Given the description of an element on the screen output the (x, y) to click on. 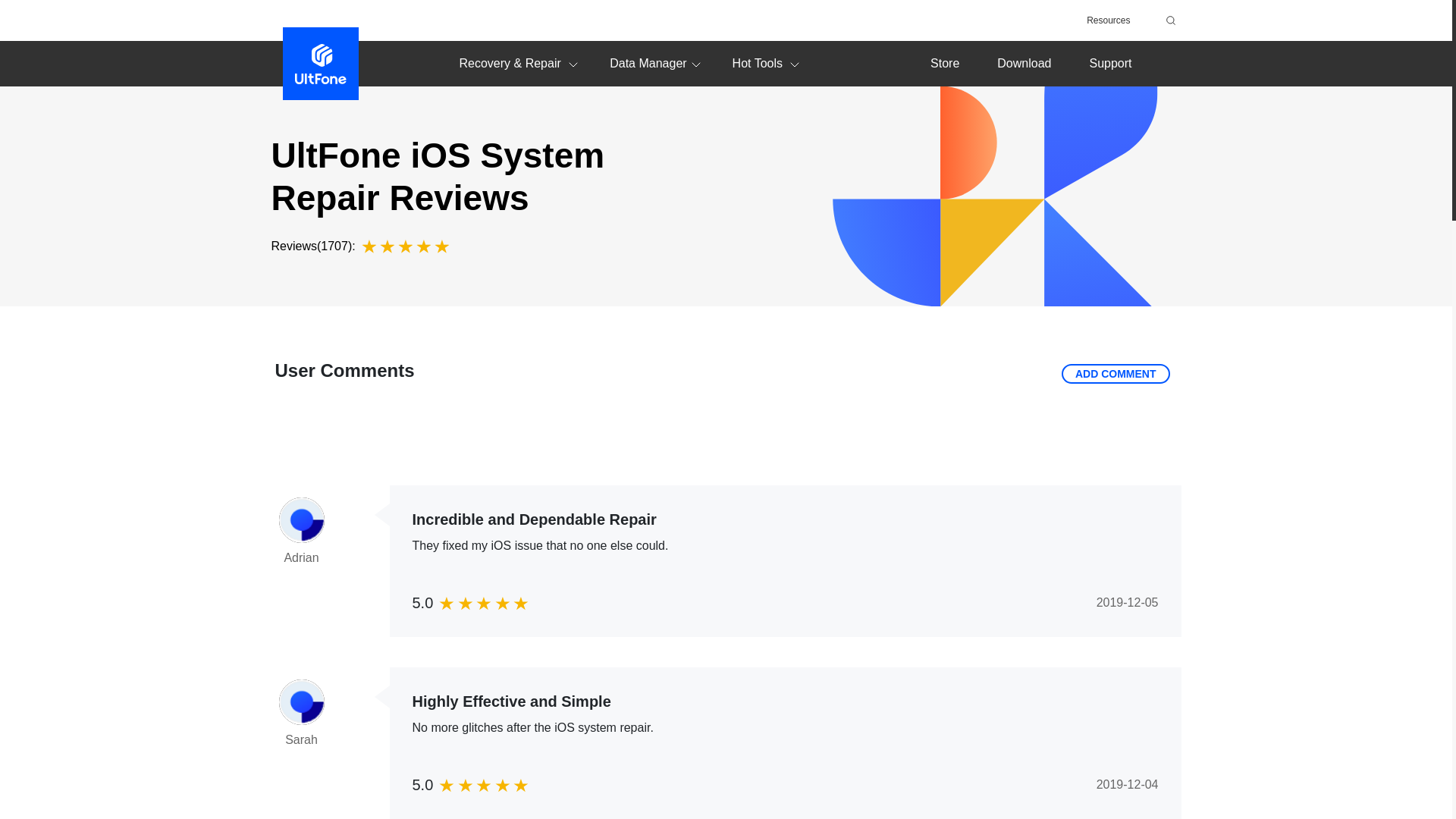
submit button (1167, 20)
submit button (1167, 20)
Store (944, 62)
Download (1024, 62)
submit button (1167, 20)
Resources (1107, 20)
Support (1110, 62)
